Given the description of an element on the screen output the (x, y) to click on. 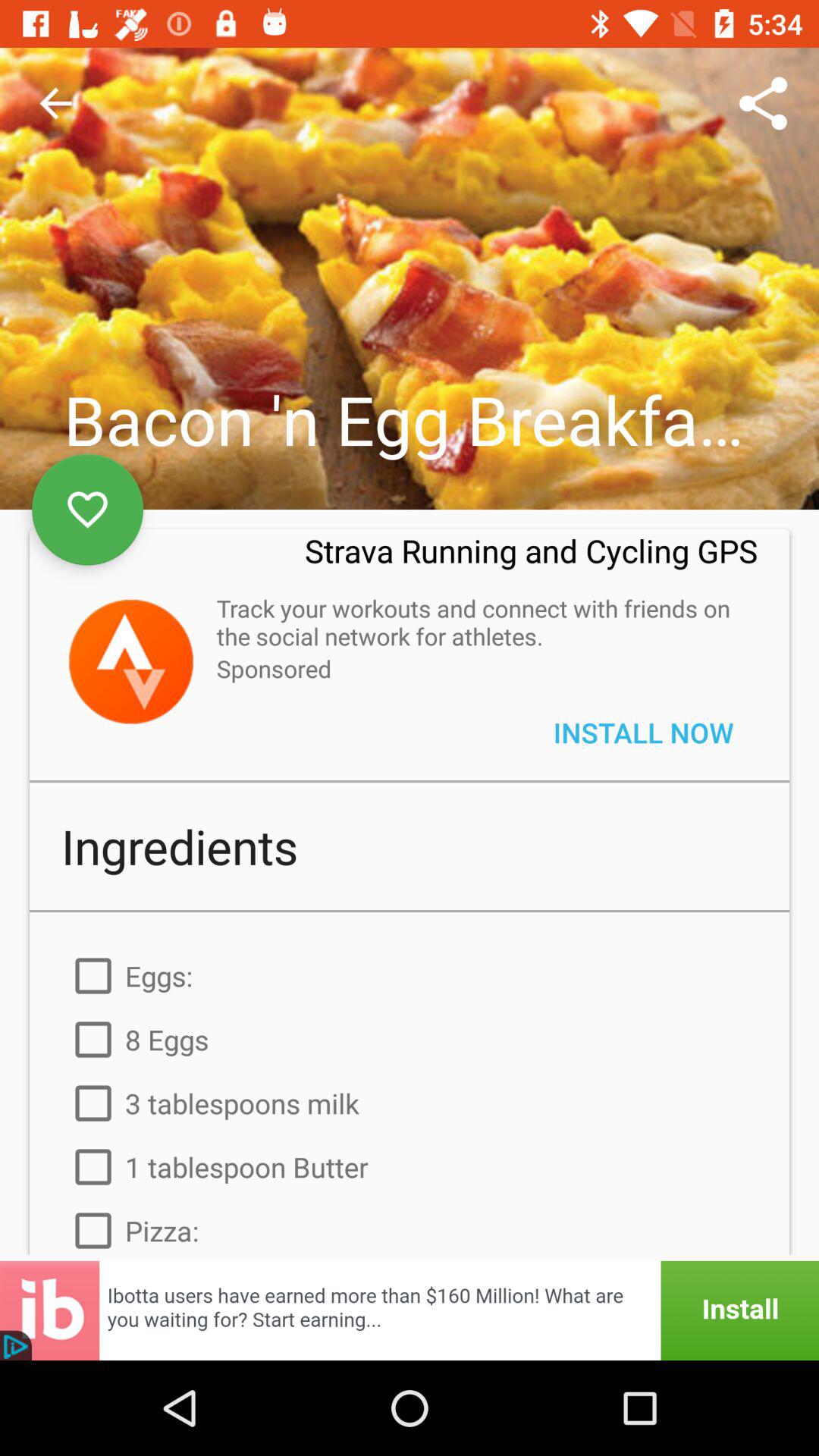
tap the item above the 1 tablespoon butter icon (409, 1103)
